Given the description of an element on the screen output the (x, y) to click on. 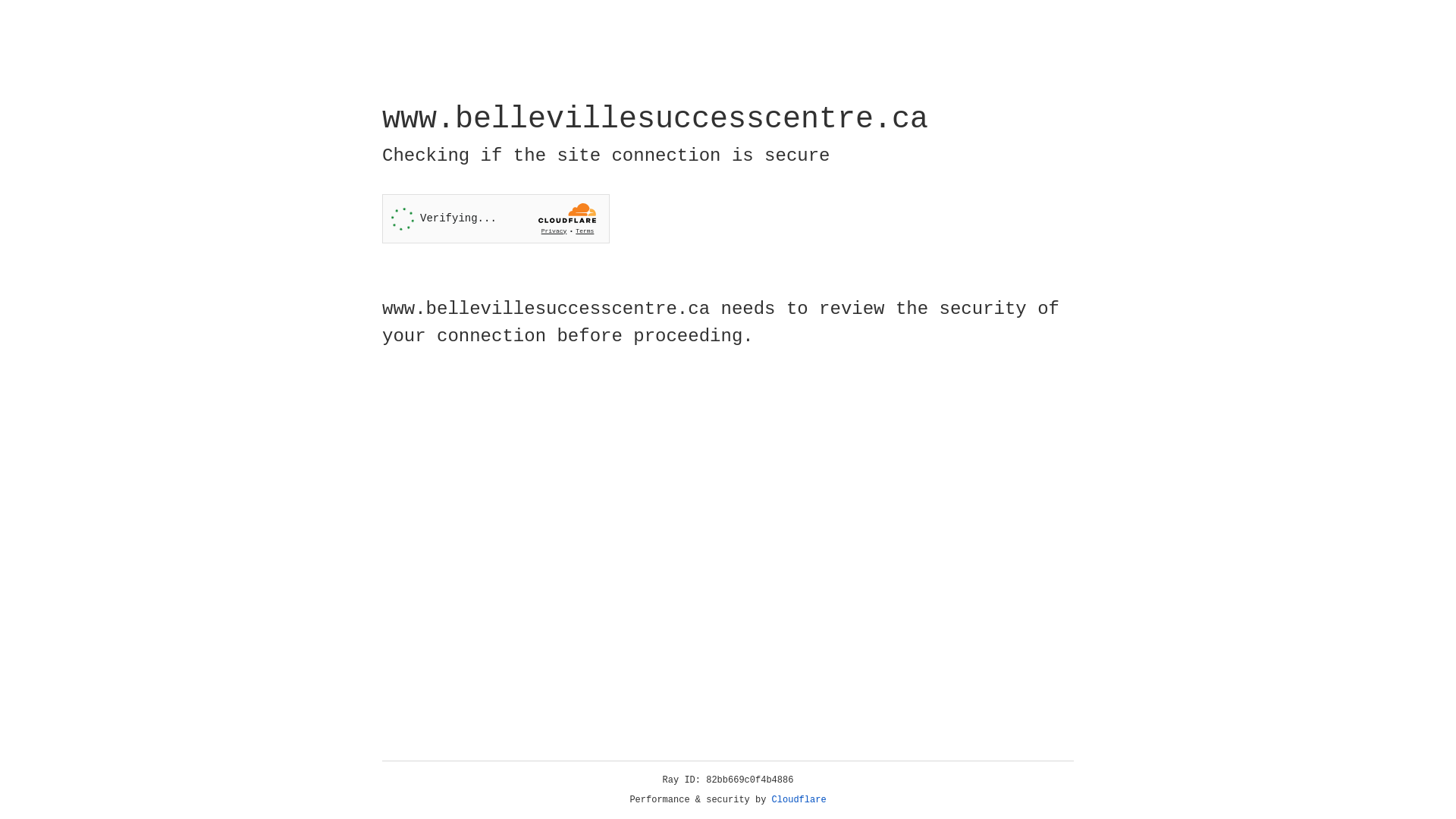
Widget containing a Cloudflare security challenge Element type: hover (495, 218)
Cloudflare Element type: text (798, 799)
